Given the description of an element on the screen output the (x, y) to click on. 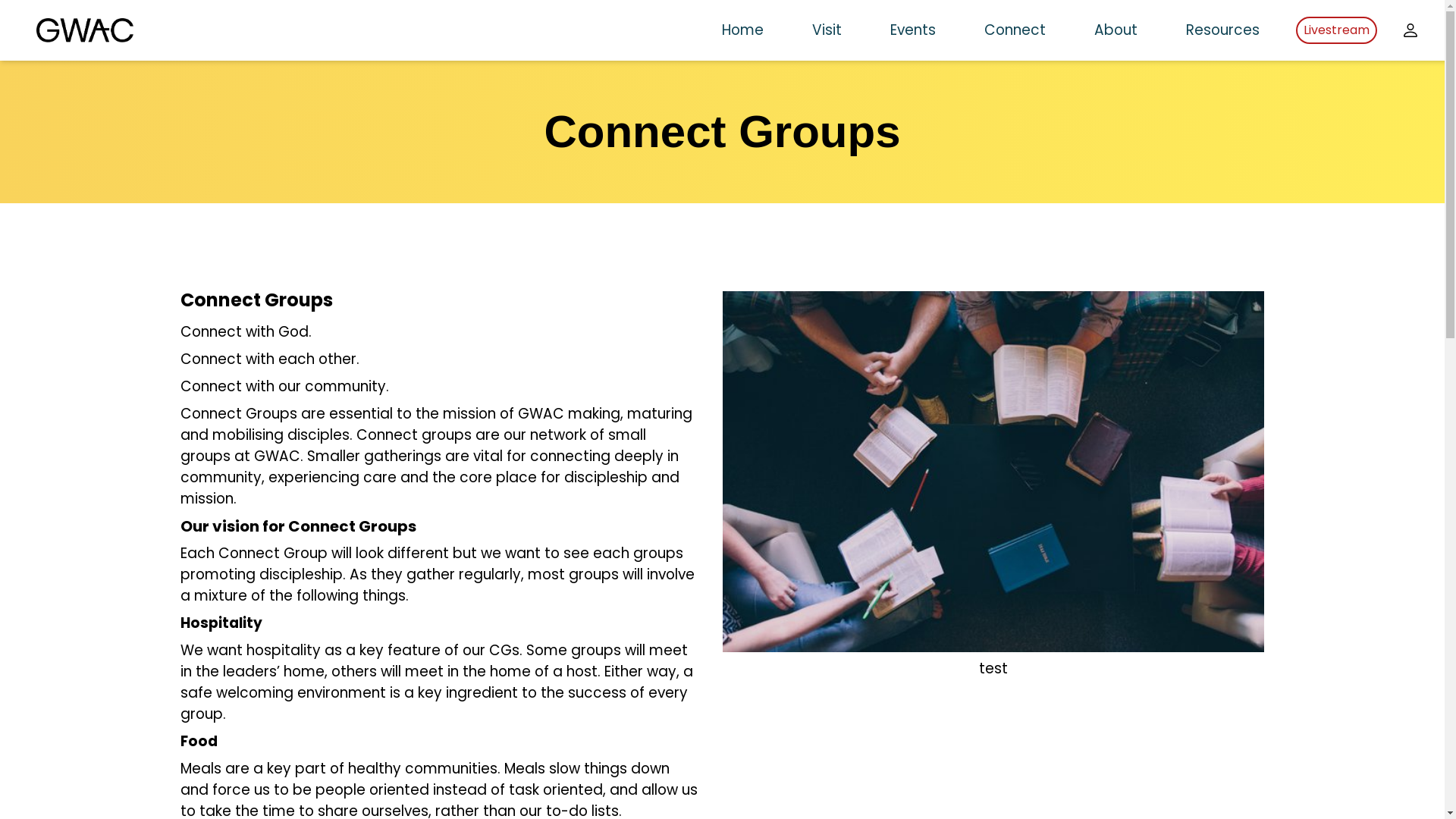
Events Element type: text (912, 30)
Connect Element type: text (1014, 30)
Livestream Element type: text (1336, 29)
Visit Element type: text (826, 30)
Home Element type: text (742, 30)
Resources Element type: text (1222, 30)
About Element type: text (1115, 30)
